Given the description of an element on the screen output the (x, y) to click on. 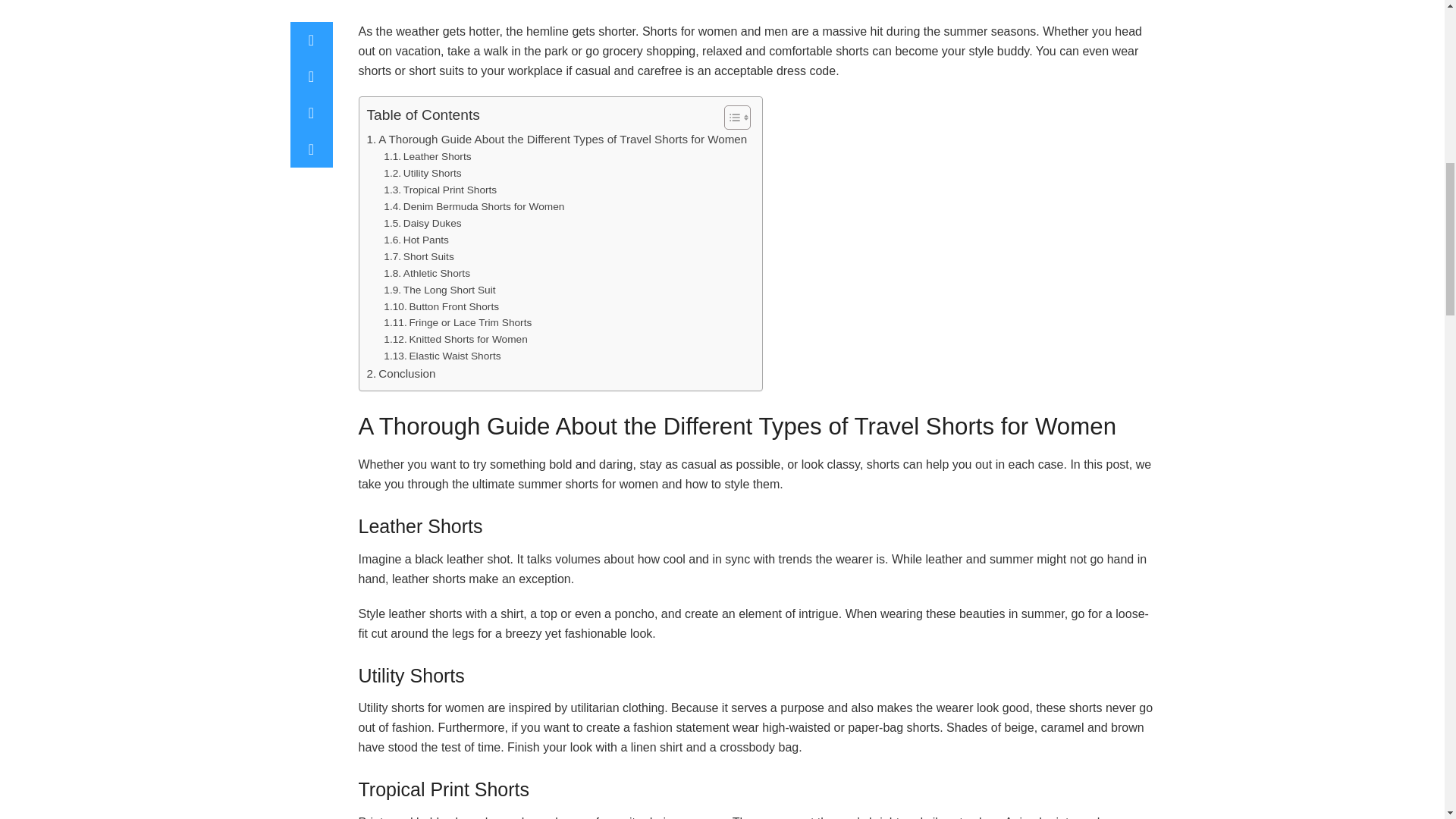
Athletic Shorts (427, 273)
Hot Pants (416, 239)
Short Suits (418, 256)
Daisy Dukes (422, 223)
The Long Short Suit (439, 289)
Tropical Print Shorts (440, 190)
Fringe or Lace Trim Shorts (457, 322)
Denim Bermuda Shorts for Women (474, 207)
